Given the description of an element on the screen output the (x, y) to click on. 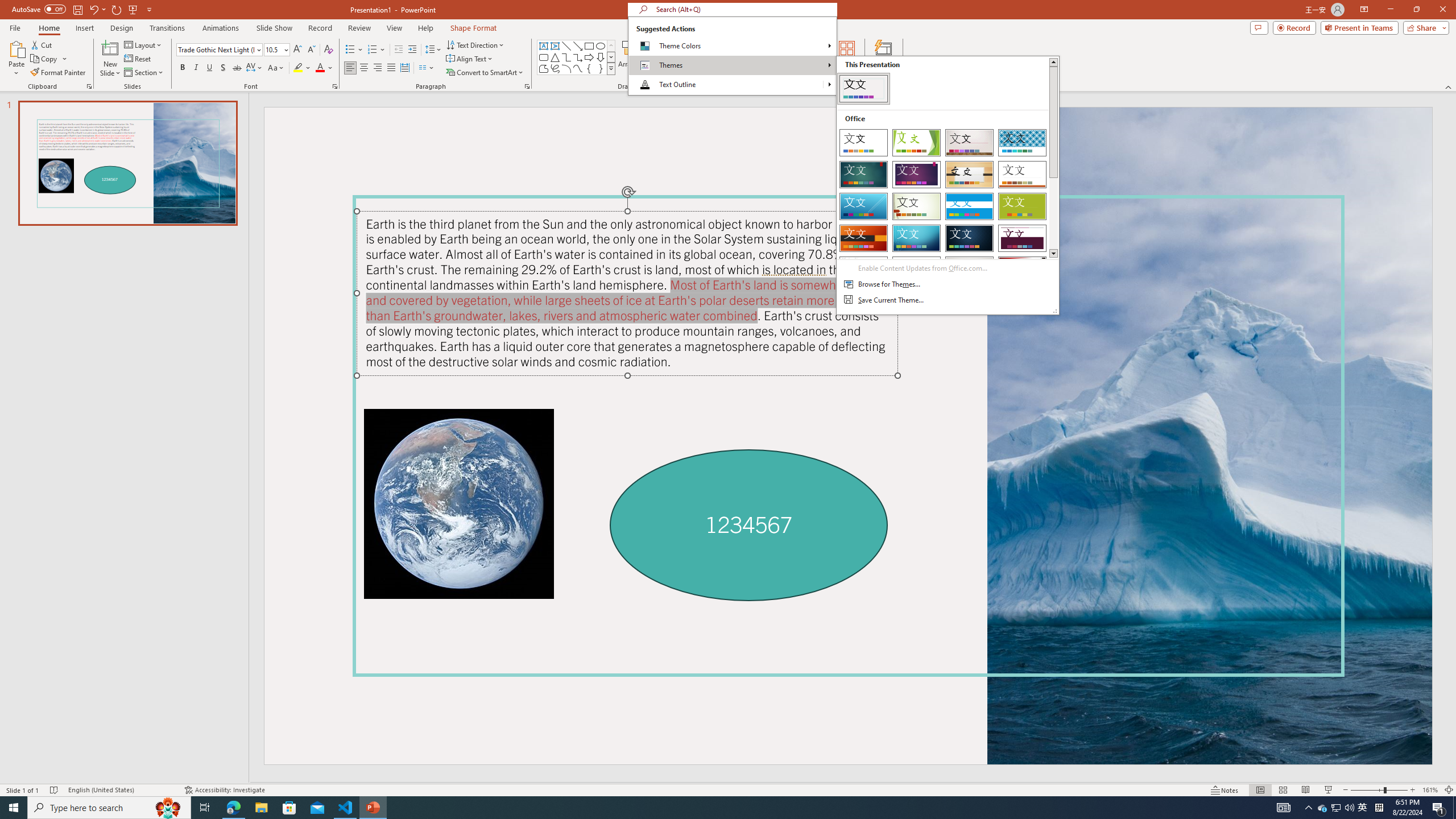
Class: NetUITWMenuContainer (731, 56)
Columns (426, 67)
Justify (390, 67)
Font... (334, 85)
